Given the description of an element on the screen output the (x, y) to click on. 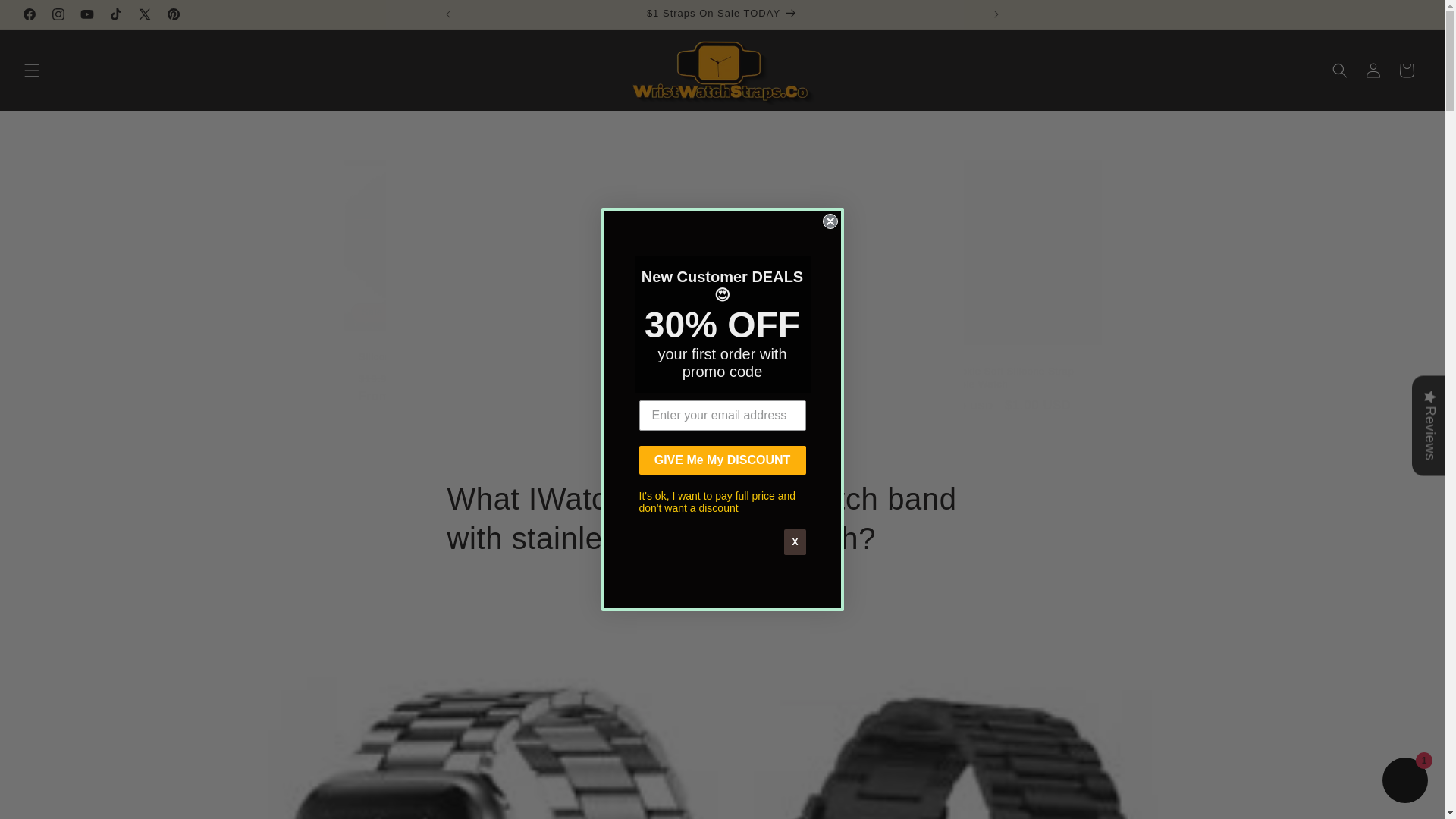
Skip to content (45, 17)
Shopify online store chat (1404, 781)
Instagram (57, 14)
Pinterest (172, 14)
TikTok (116, 14)
YouTube (86, 14)
Facebook (28, 14)
